Given the description of an element on the screen output the (x, y) to click on. 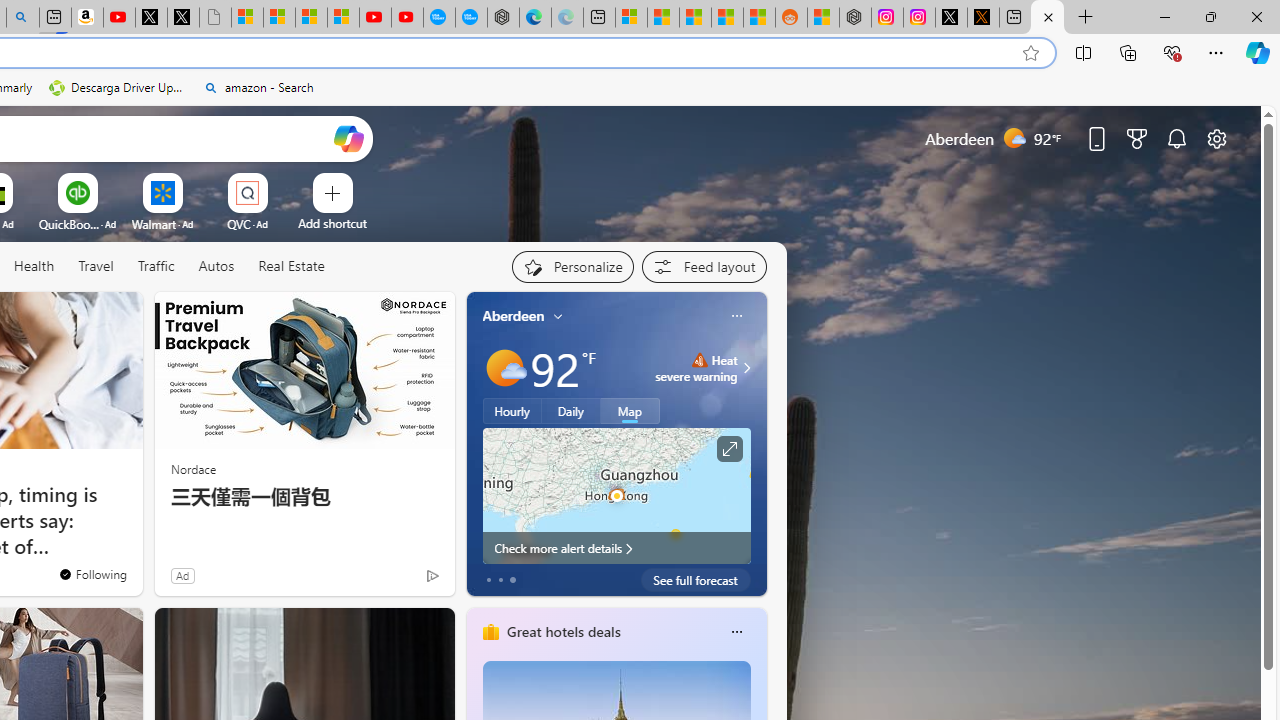
Heat - Severe Heat severe warning (696, 367)
Check more alert details (616, 547)
See full forecast (695, 579)
Larger map  (616, 495)
Heat - Severe (699, 359)
Log in to X / X (950, 17)
